Given the description of an element on the screen output the (x, y) to click on. 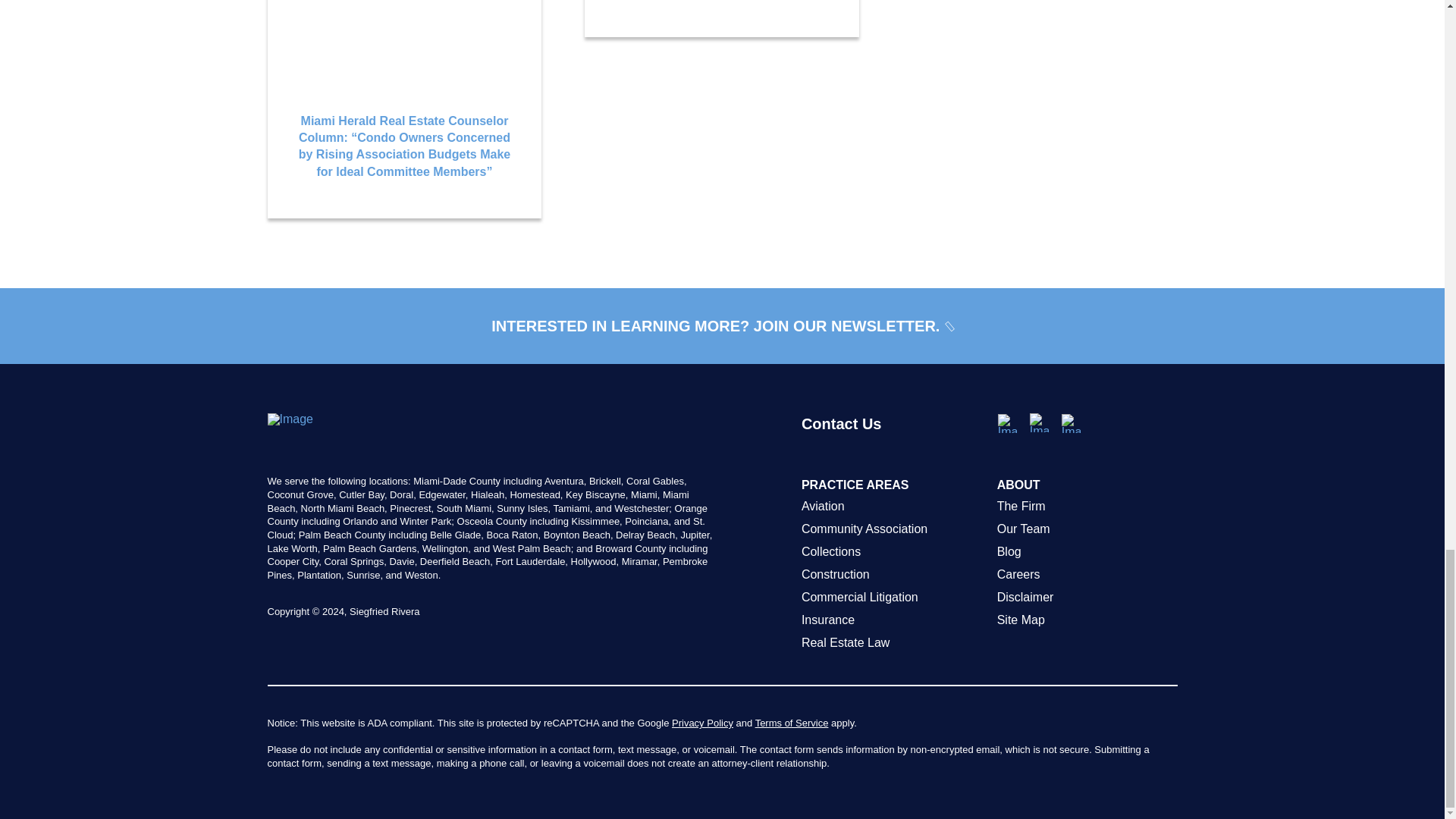
Contact Us (891, 444)
Community Association (891, 528)
Aviation (891, 506)
